Given the description of an element on the screen output the (x, y) to click on. 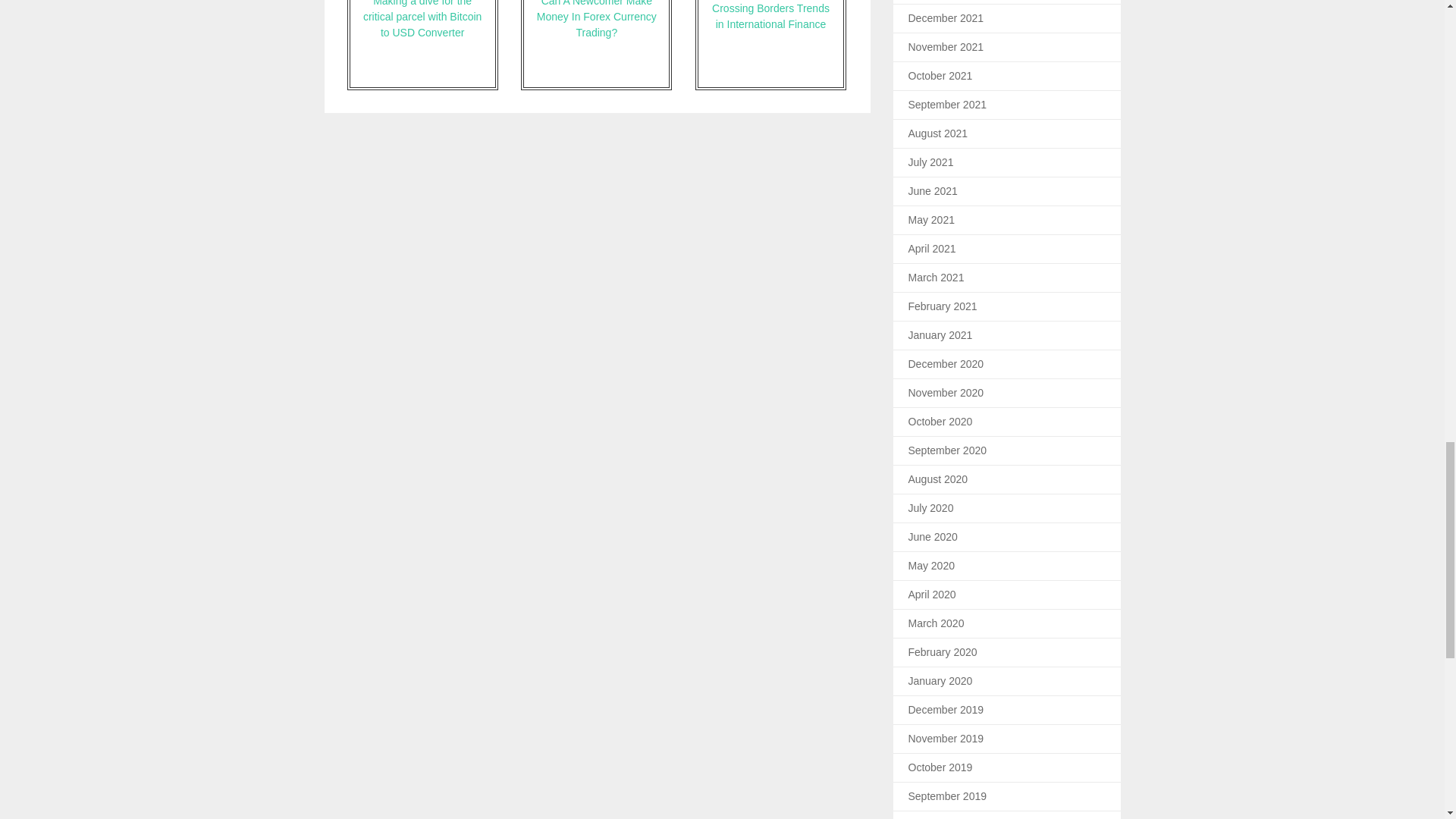
Crossing Borders Trends in International Finance (770, 45)
Can A Newcomer Make Money In Forex Currency Trading? (596, 45)
Crossing Borders Trends in International Finance (770, 45)
Can A Newcomer Make Money In Forex Currency Trading? (596, 45)
